Given the description of an element on the screen output the (x, y) to click on. 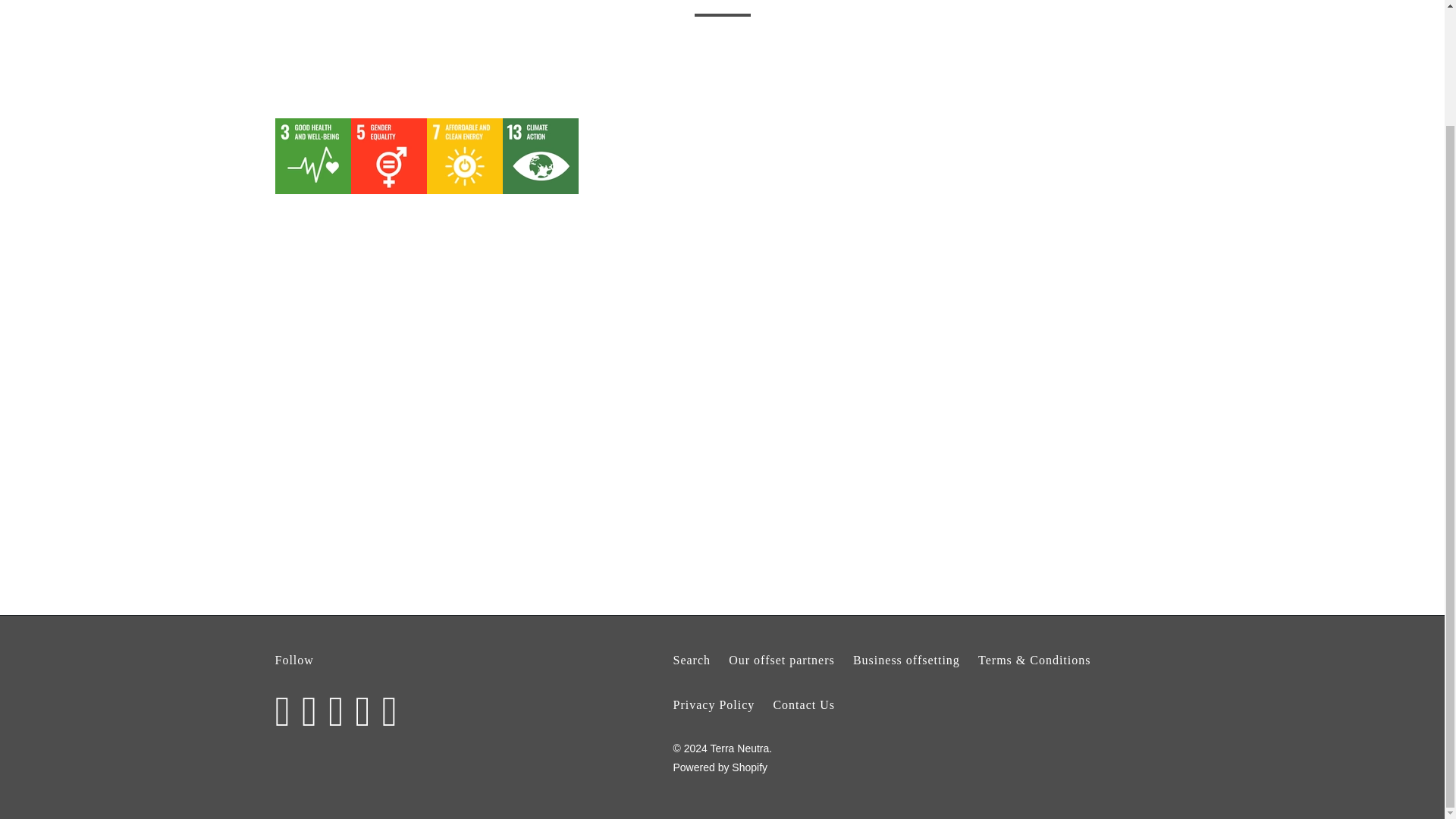
UN Sustainable Development Goals (569, 49)
